Given the description of an element on the screen output the (x, y) to click on. 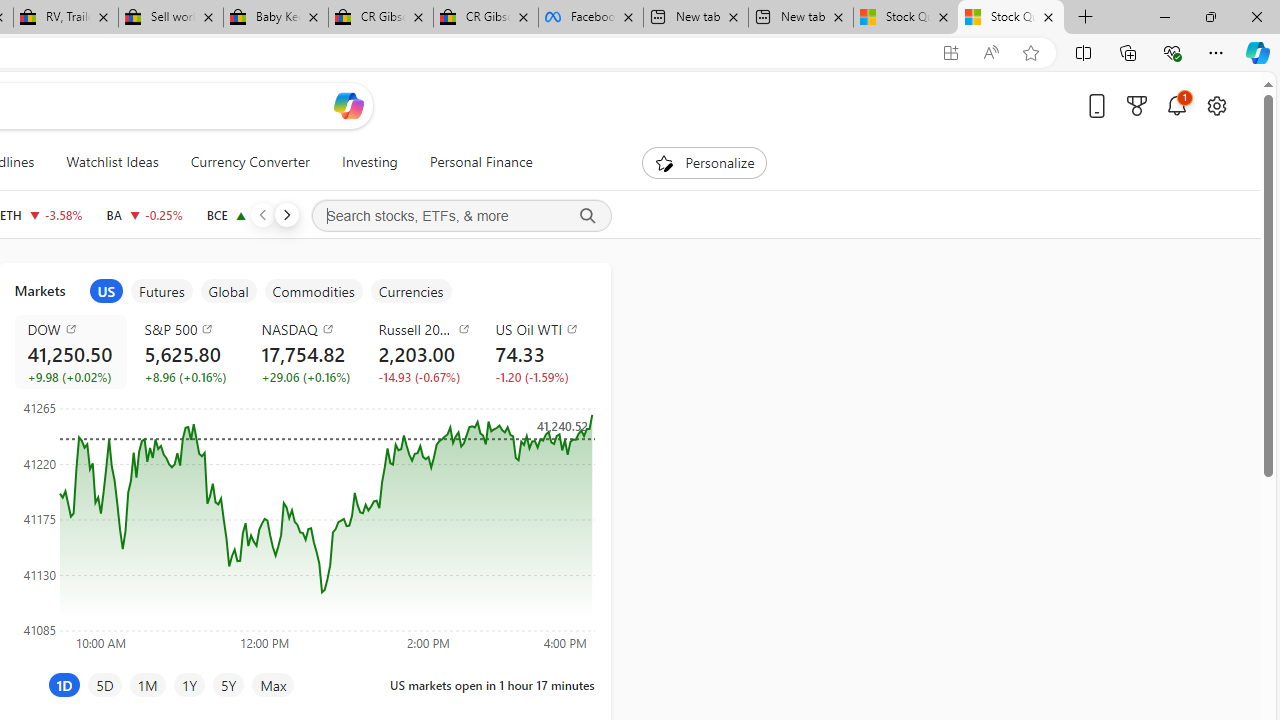
Currency Converter (249, 162)
1Y (188, 684)
Russell 2000 (424, 328)
Personal Finance (480, 162)
Microsoft rewards (1137, 105)
US Oil WTI USOIL decrease 74.33 -1.20 -1.59% (538, 351)
Max (273, 684)
Global (228, 291)
Commodities (313, 291)
